Given the description of an element on the screen output the (x, y) to click on. 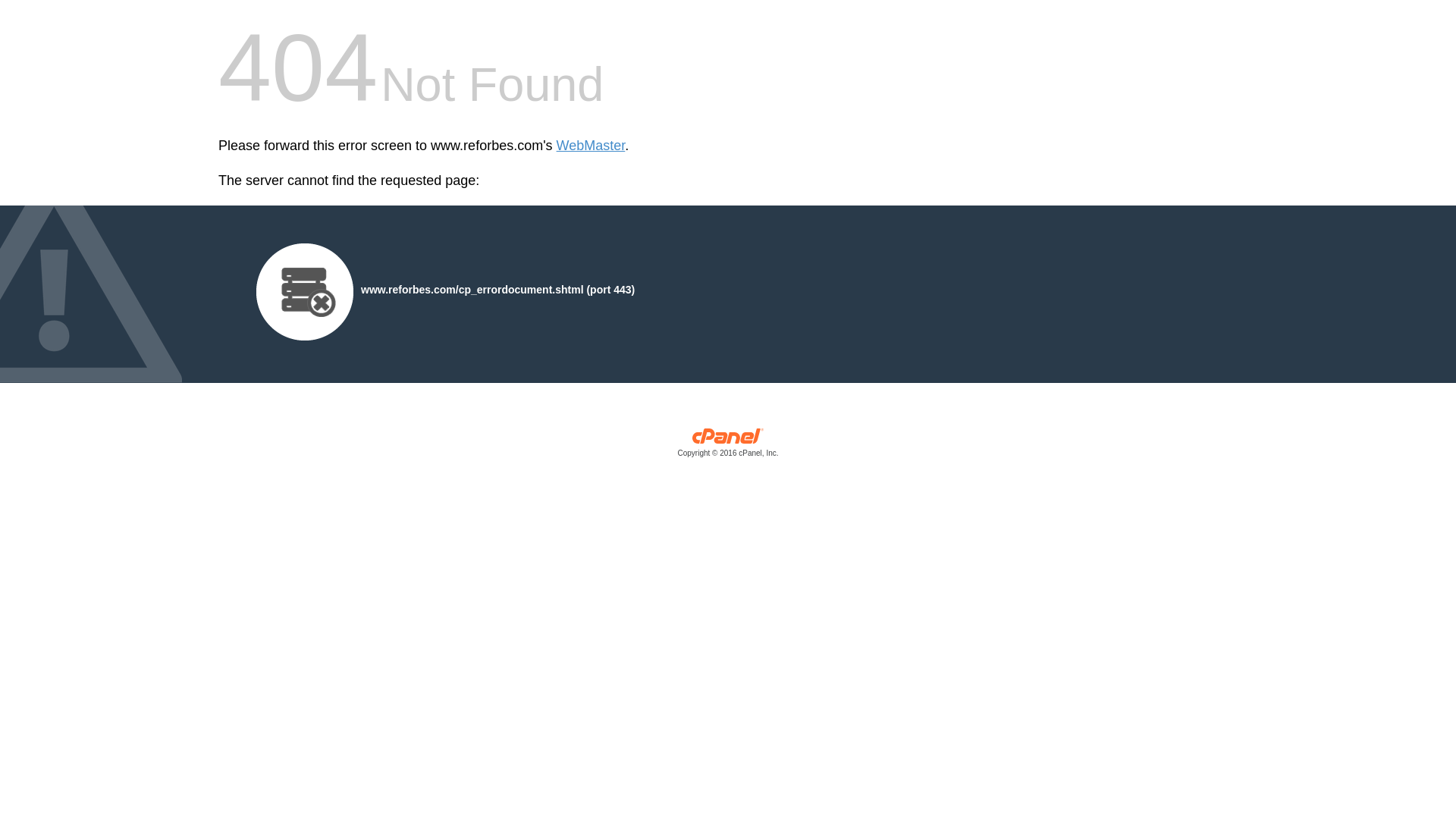
WebMaster (591, 145)
cPanel, Inc. (727, 446)
